Given the description of an element on the screen output the (x, y) to click on. 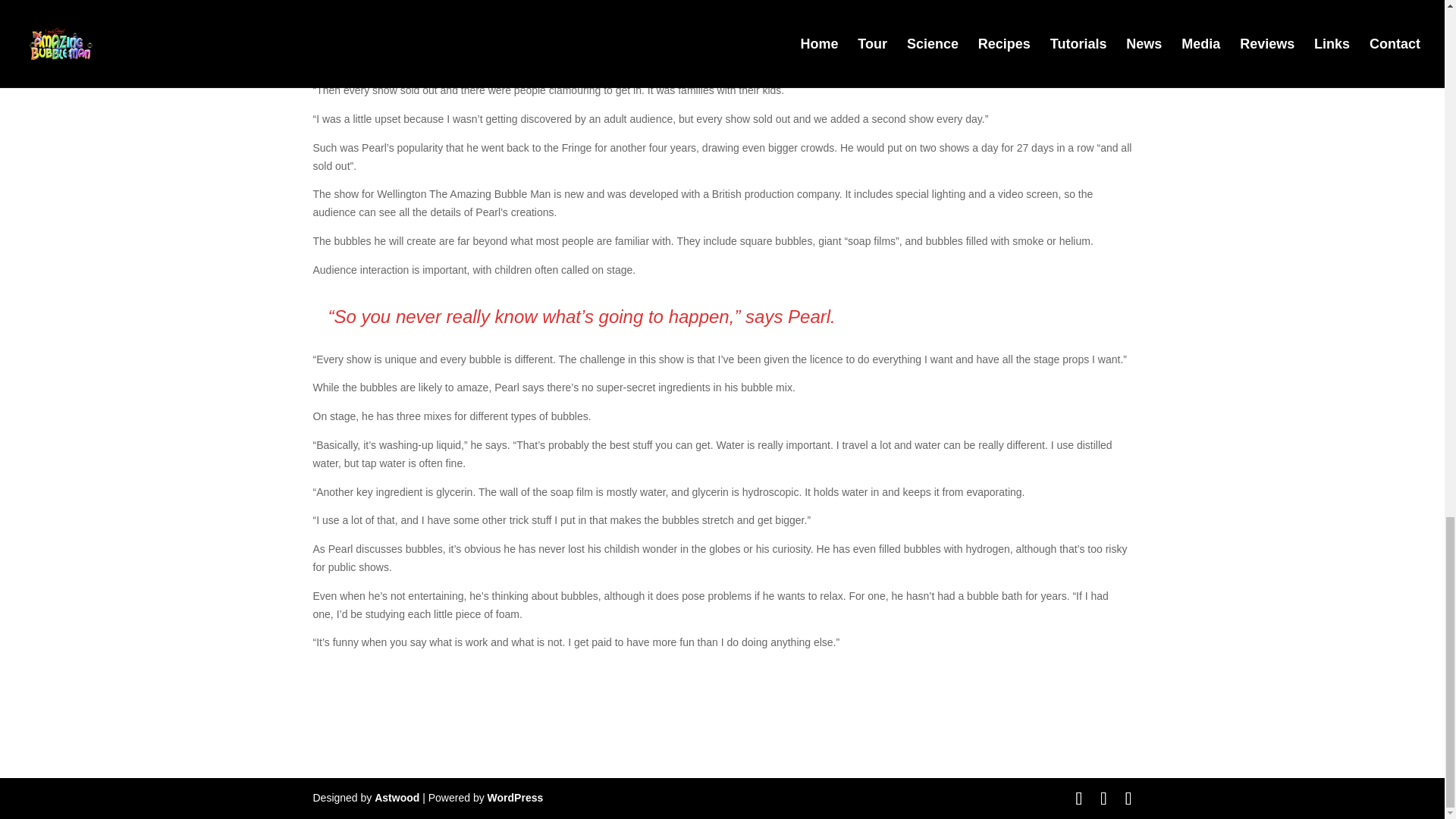
Astwood (396, 797)
WordPress (515, 797)
Astwood Design (396, 797)
